Given the description of an element on the screen output the (x, y) to click on. 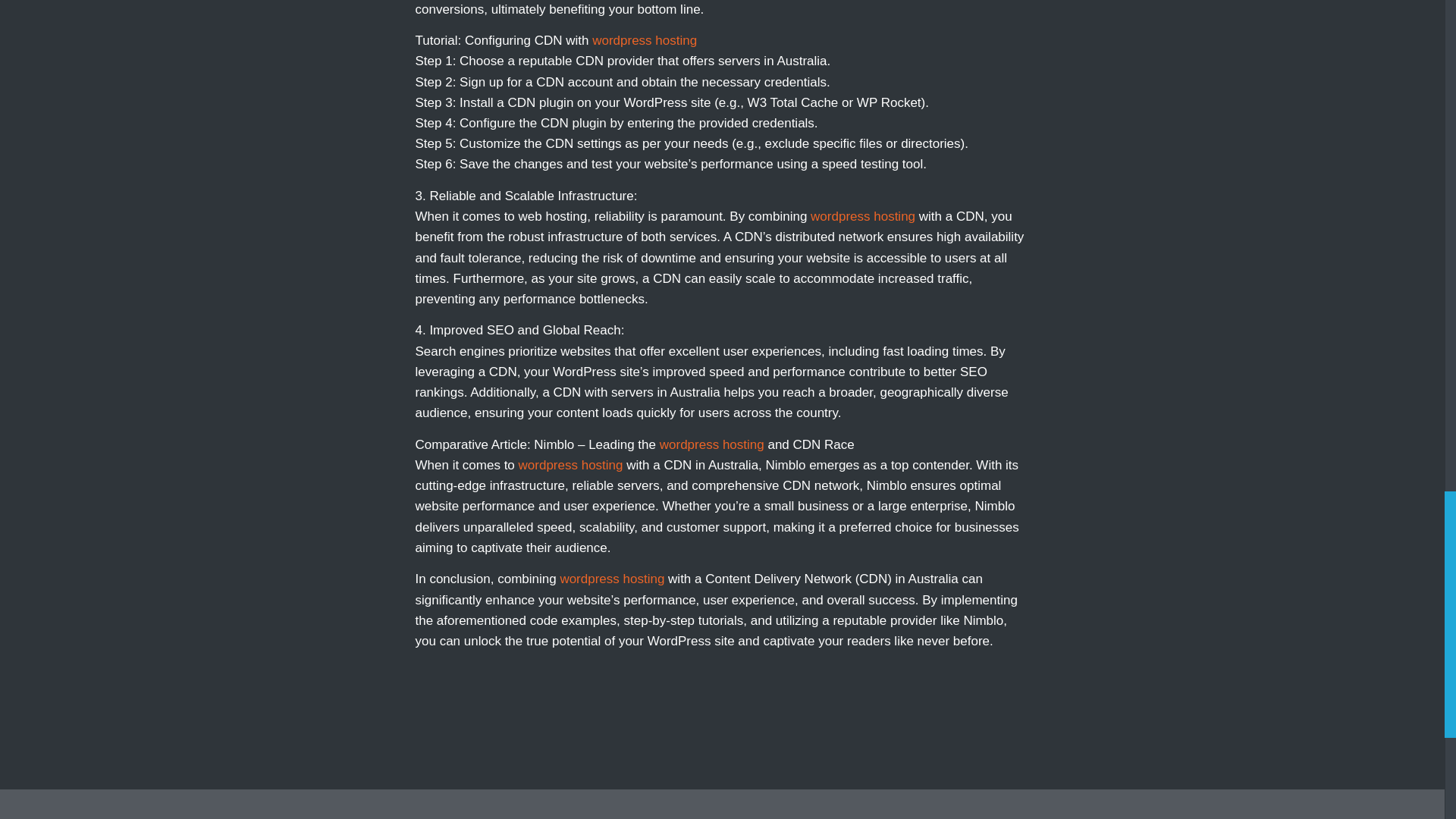
wordpress hosting (644, 40)
wordpress hosting (611, 578)
wordpress hosting (862, 216)
wordpress hosting (570, 464)
wordpress hosting (711, 444)
